Given the description of an element on the screen output the (x, y) to click on. 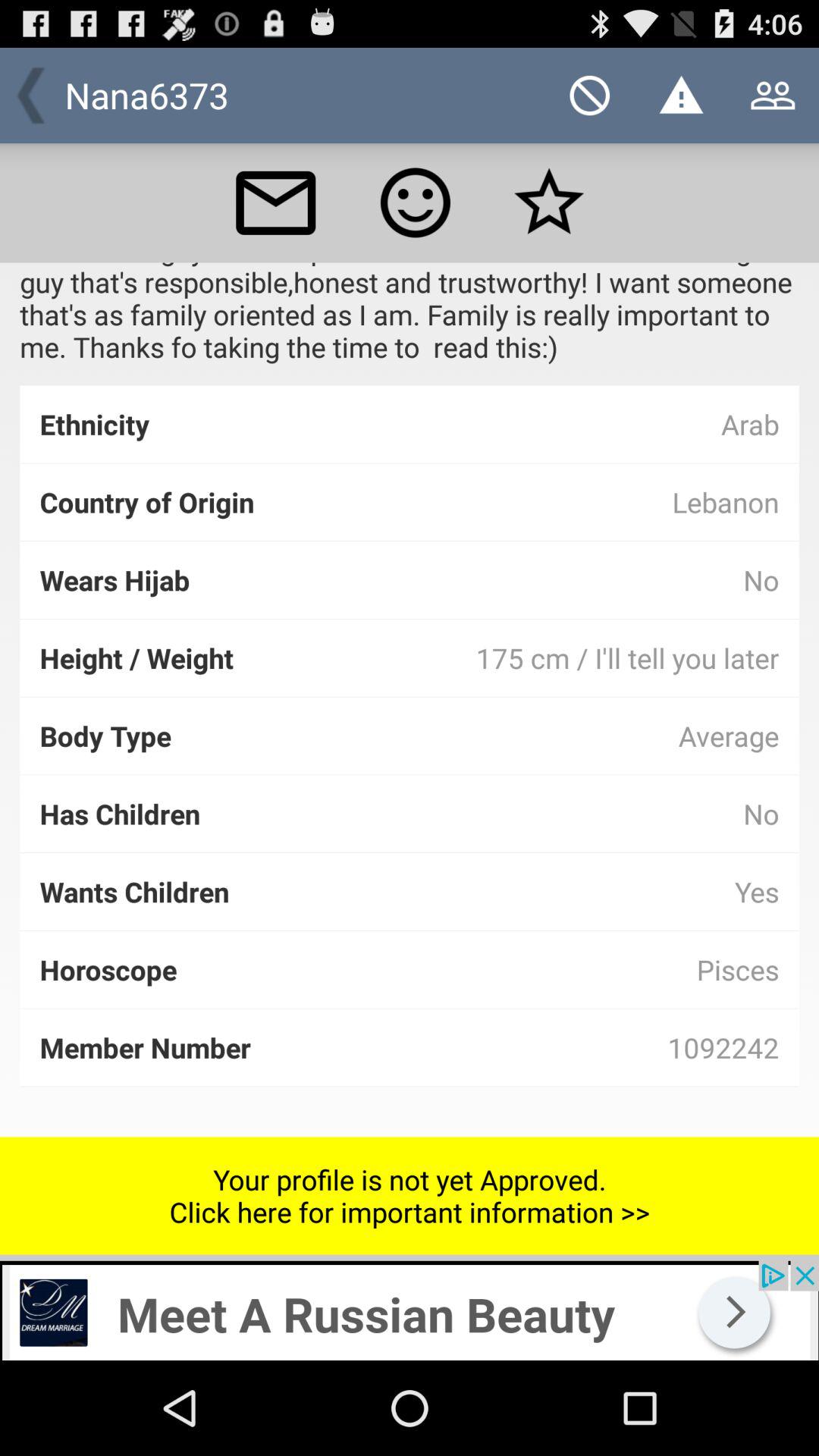
email (275, 202)
